Given the description of an element on the screen output the (x, y) to click on. 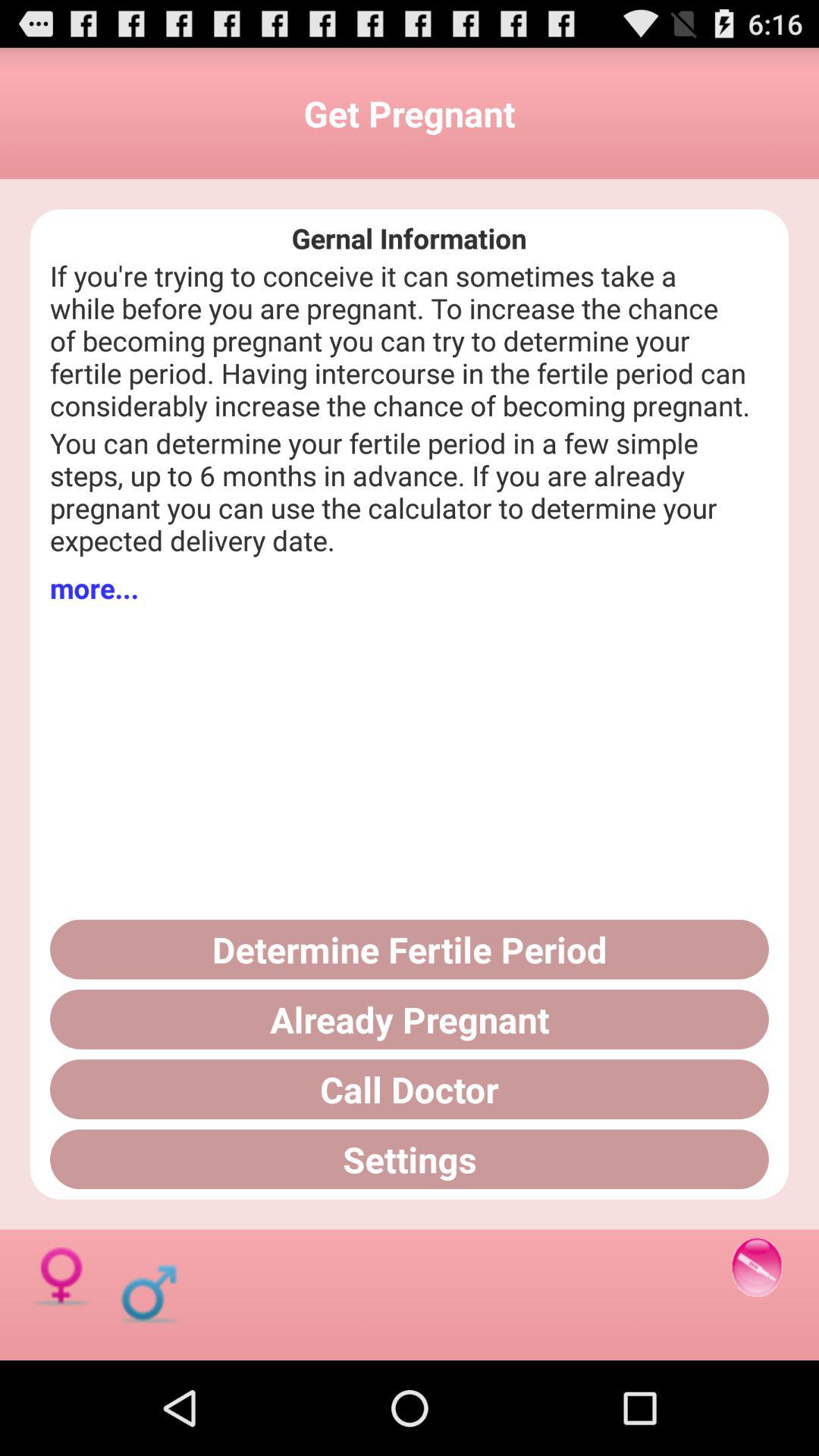
launch settings (409, 1159)
